Given the description of an element on the screen output the (x, y) to click on. 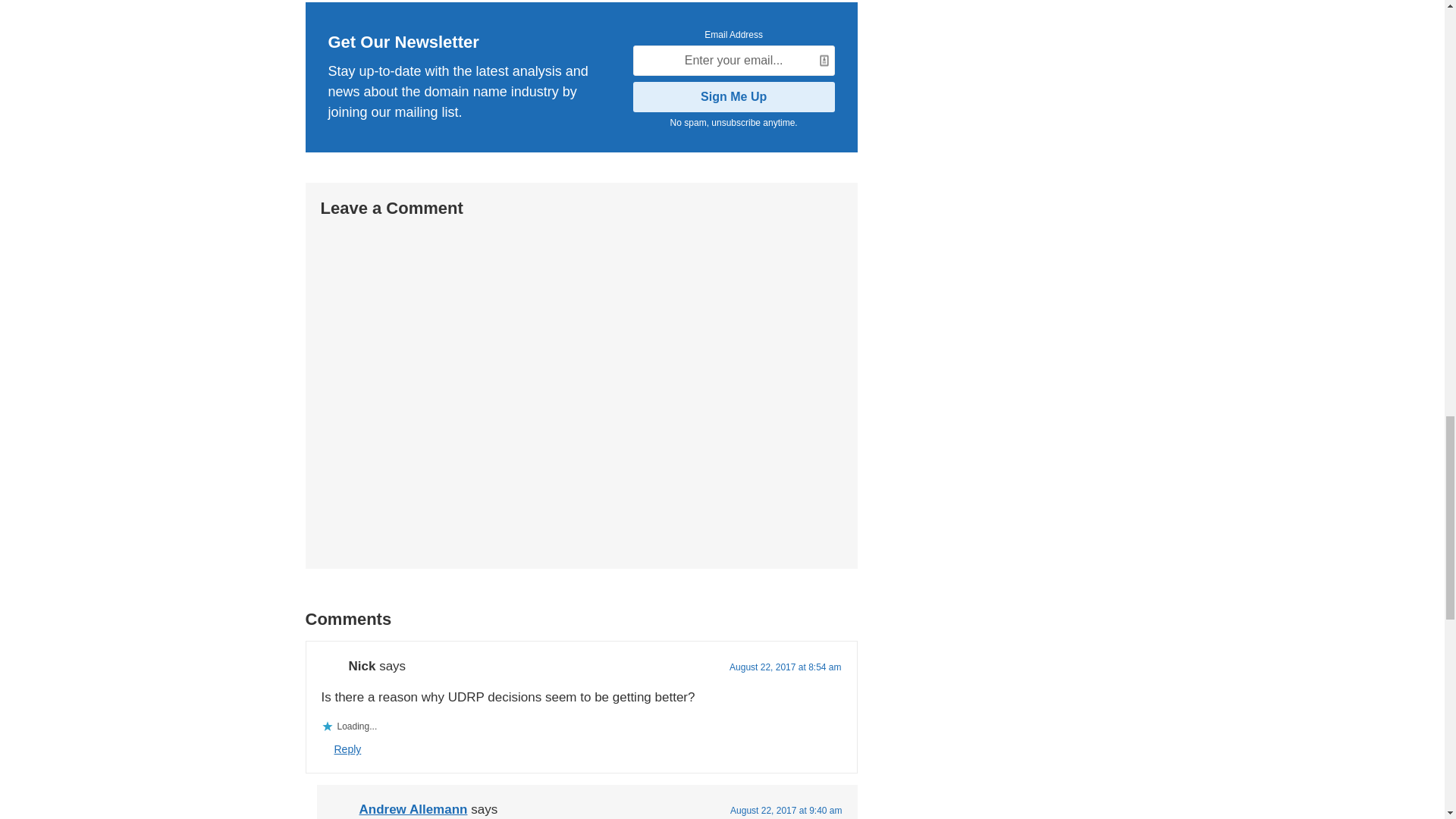
Sign Me Up (733, 96)
